Given the description of an element on the screen output the (x, y) to click on. 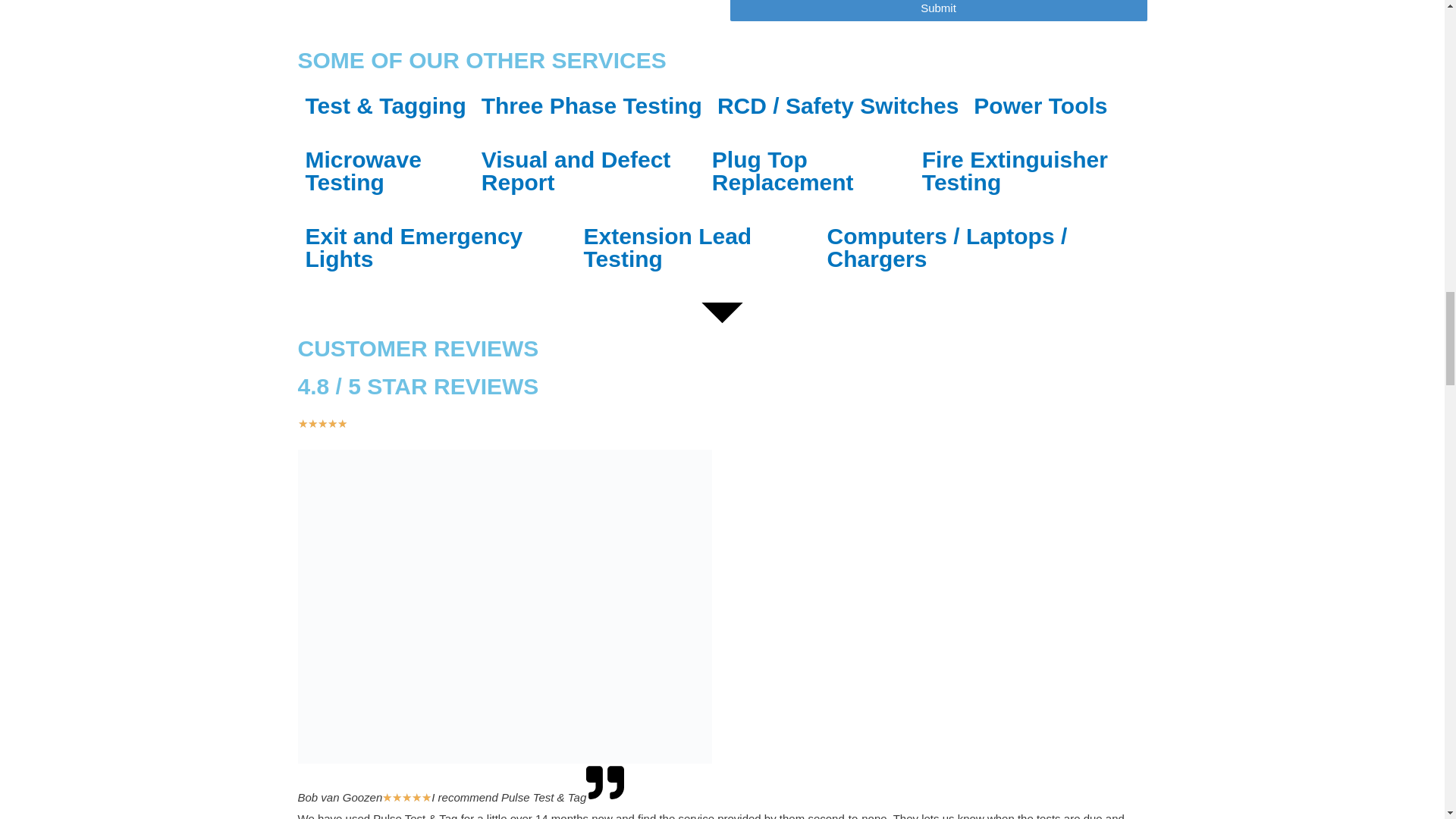
Submit (938, 10)
